Given the description of an element on the screen output the (x, y) to click on. 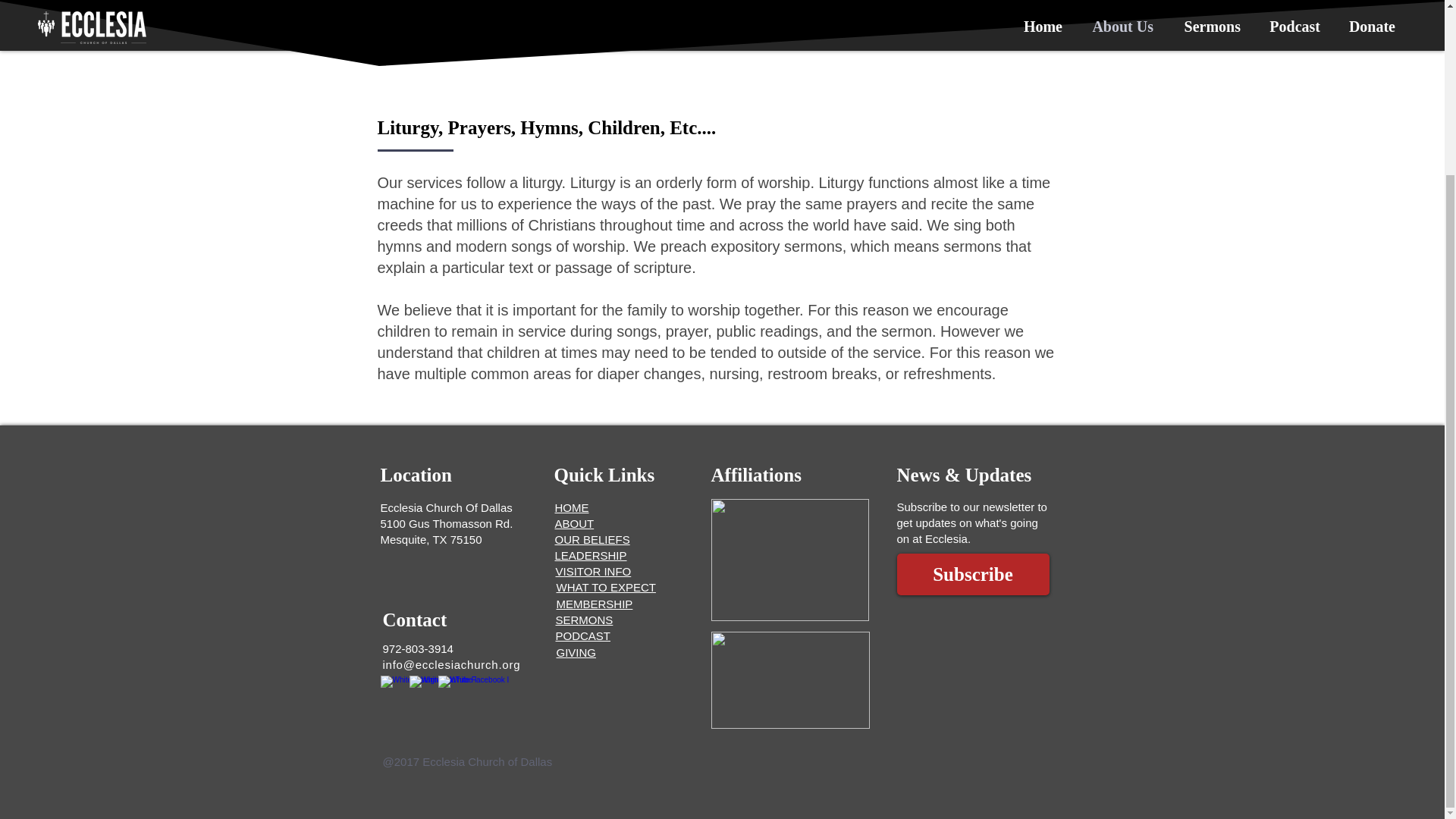
ABOUT (574, 522)
HOME (571, 507)
VISITOR INFO (592, 571)
WHAT TO EXPECT (606, 586)
MEMBERSHIP (594, 603)
sbts logo.jpg (790, 559)
SERMONS (583, 619)
OUR BELIEFS (592, 539)
GIVING (576, 652)
Subscribe (972, 574)
dba logo.jpg (790, 679)
LEADERSHIP (590, 554)
PODCAST (582, 635)
